Given the description of an element on the screen output the (x, y) to click on. 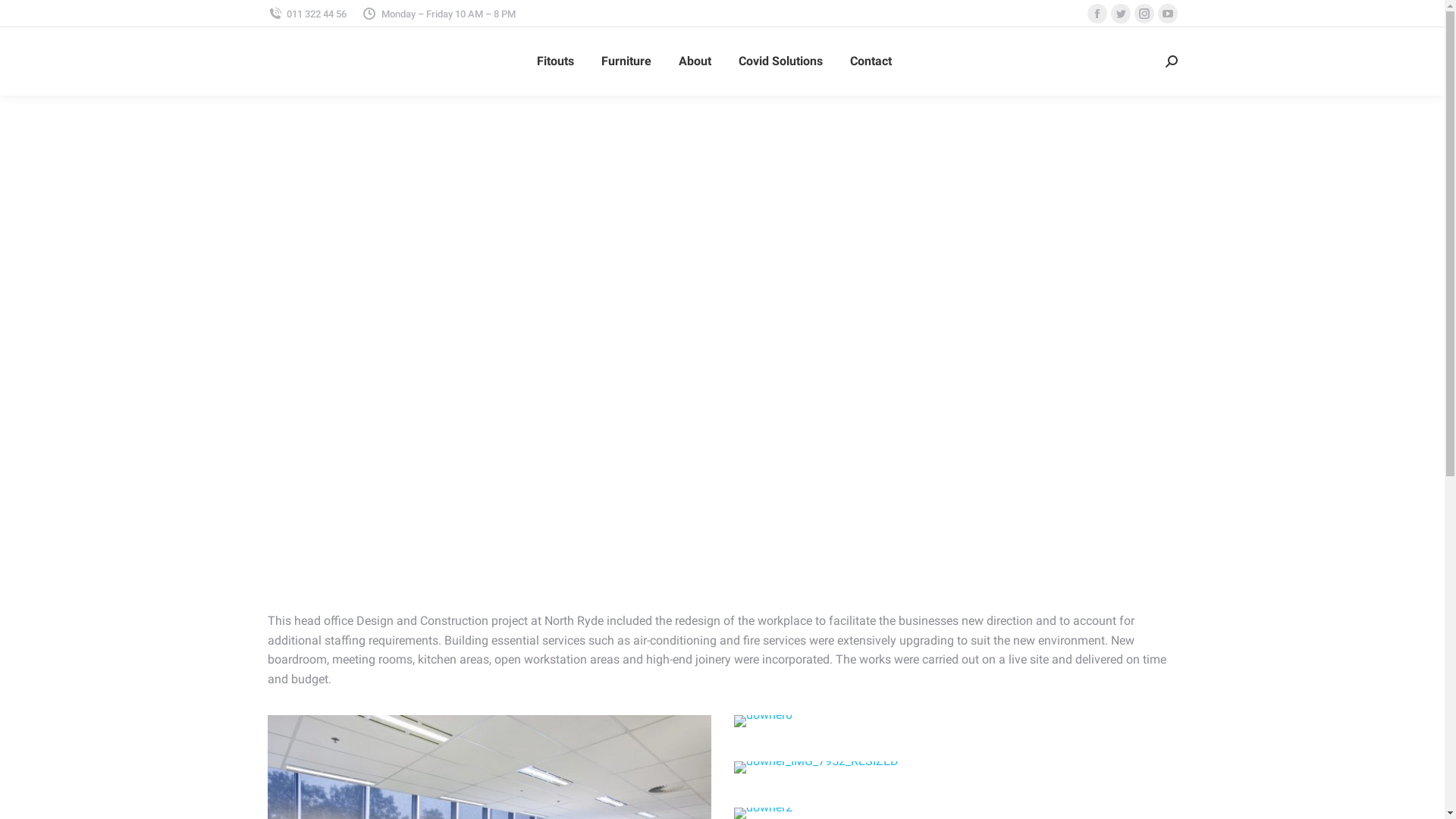
About Element type: text (694, 60)
downer6 Element type: hover (763, 721)
downer_IMG_7952_RESIZED Element type: hover (816, 767)
Furniture Element type: text (626, 60)
YouTube page opens in new window Element type: text (1166, 13)
Go! Element type: text (23, 16)
Fitouts Element type: text (555, 60)
Facebook page opens in new window Element type: text (1097, 13)
Covid Solutions Element type: text (780, 60)
Twitter page opens in new window Element type: text (1119, 13)
Contact Element type: text (870, 60)
Instagram page opens in new window Element type: text (1144, 13)
